Given the description of an element on the screen output the (x, y) to click on. 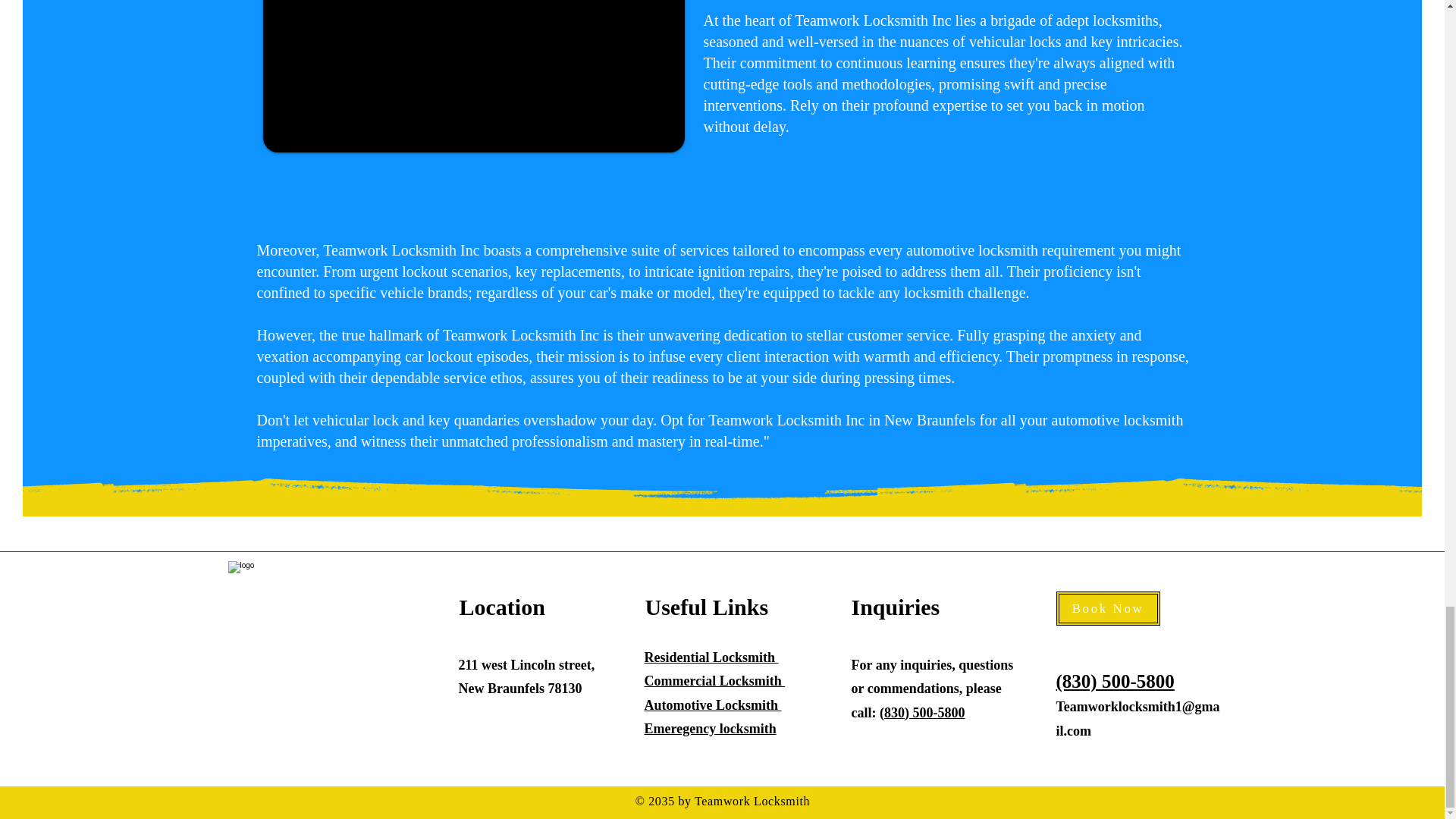
Residential Locksmith  (711, 657)
Book Now (1106, 608)
Emeregency locksmith (710, 728)
Commercial Locksmith  (715, 680)
Automotive Locksmith  (713, 704)
